Given the description of an element on the screen output the (x, y) to click on. 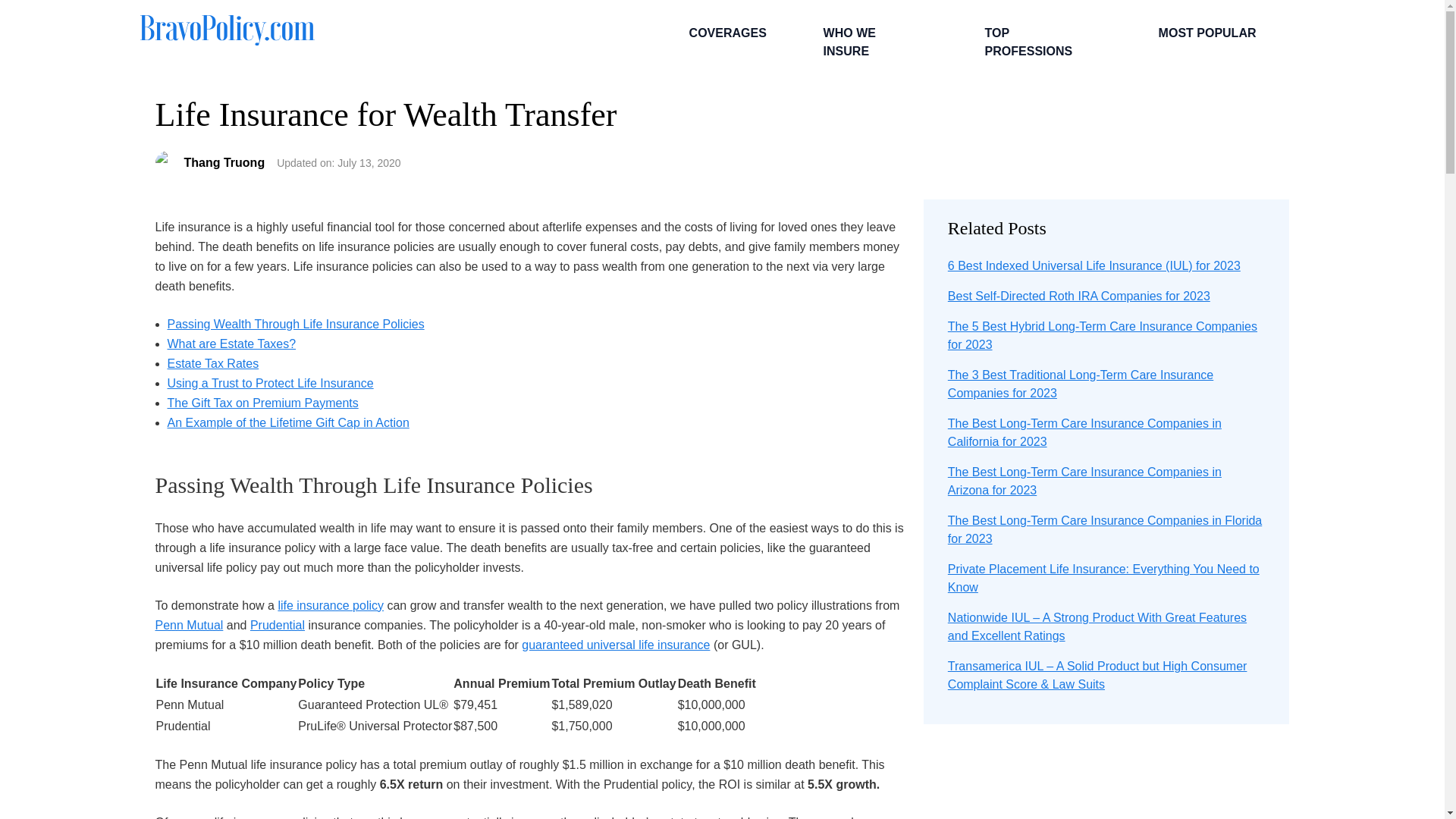
Best Self-Directed Roth IRA Companies for 2023 (1078, 295)
WHO WE INSURE (873, 42)
COVERAGES (725, 33)
